Given the description of an element on the screen output the (x, y) to click on. 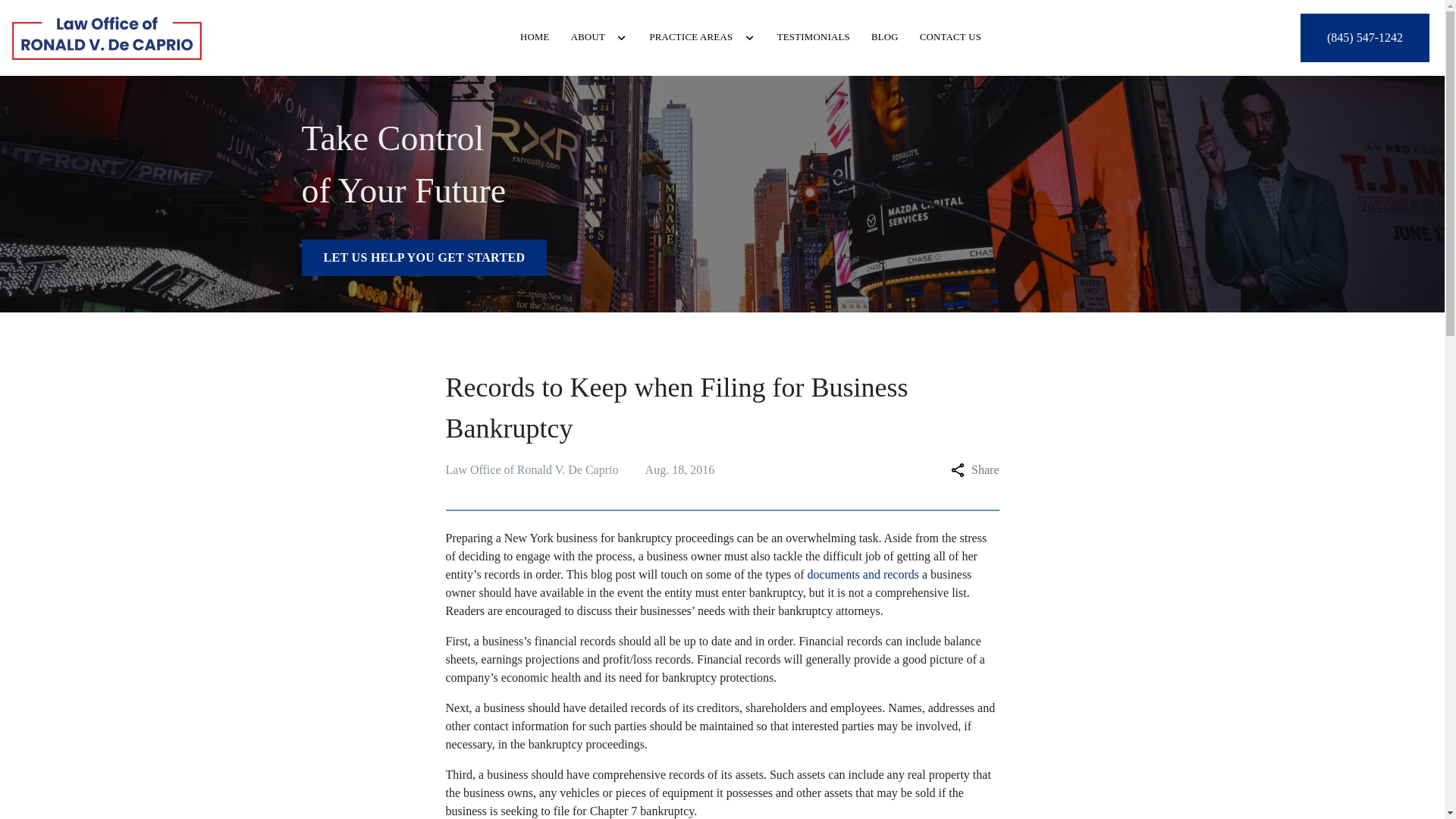
PRACTICE AREAS (690, 37)
ABOUT (587, 37)
HOME (534, 37)
